Given the description of an element on the screen output the (x, y) to click on. 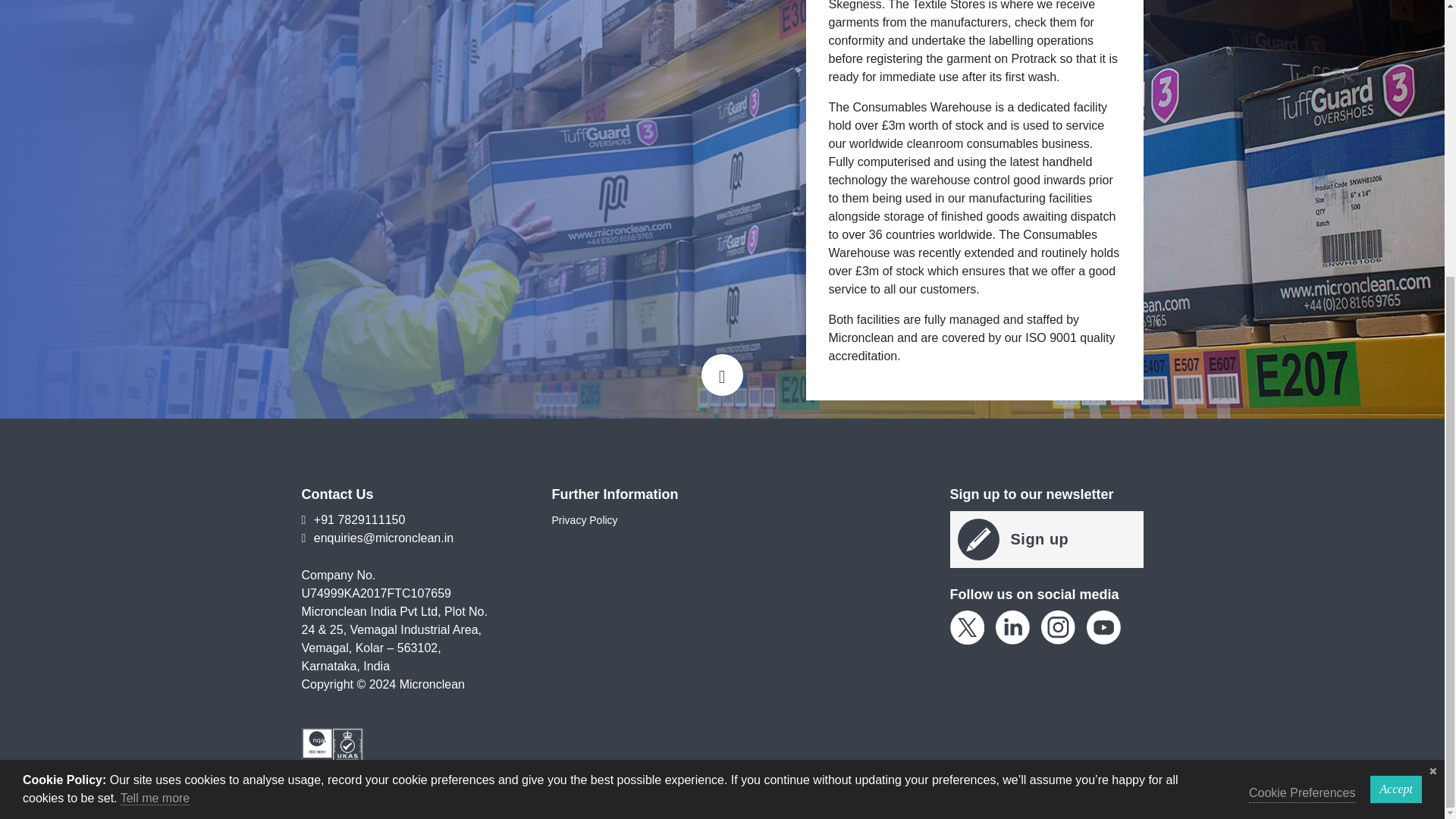
SCROLL TO CONTENT (721, 374)
SCROLL TO CONTENT (721, 374)
Sign up (1045, 539)
